Given the description of an element on the screen output the (x, y) to click on. 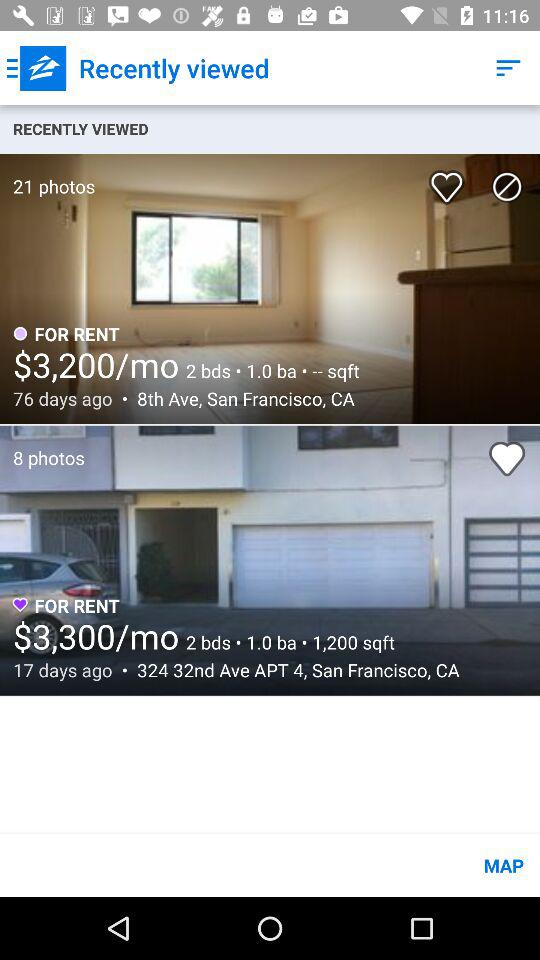
open item above the recently viewed item (36, 68)
